Given the description of an element on the screen output the (x, y) to click on. 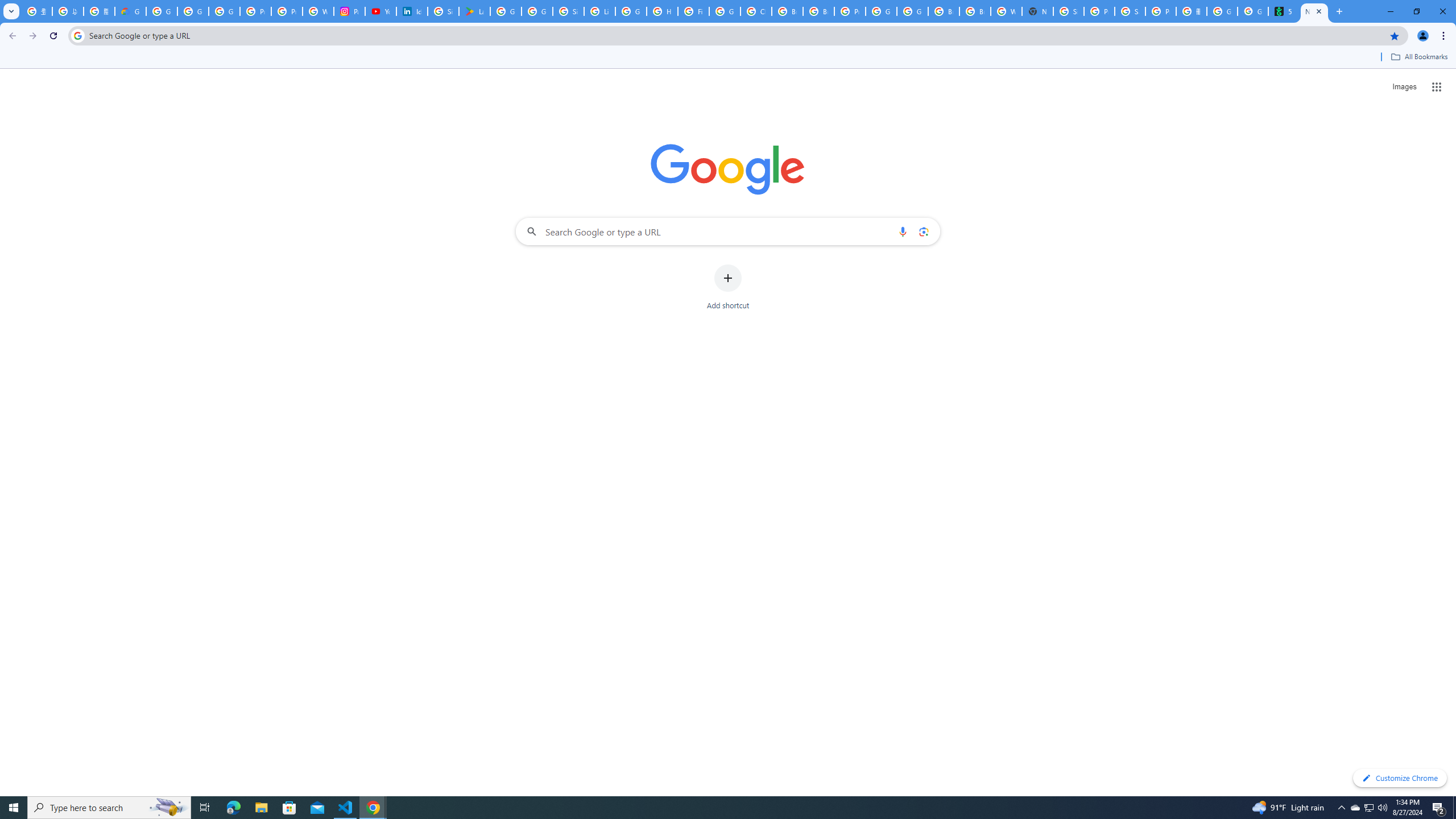
Google Cloud Platform (881, 11)
Search Google or type a URL (727, 230)
Privacy Help Center - Policies Help (255, 11)
